Given the description of an element on the screen output the (x, y) to click on. 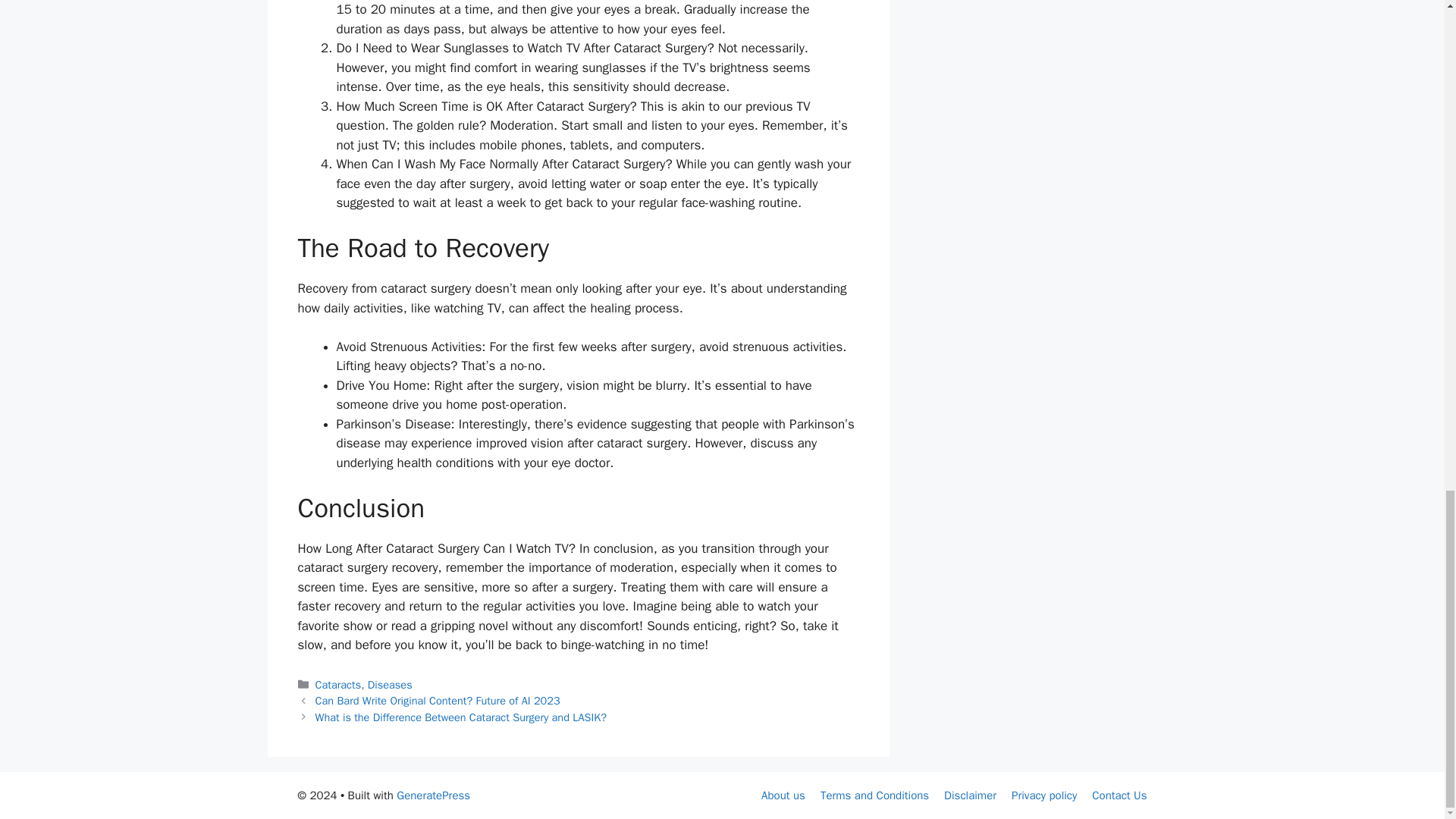
Terms and Conditions (874, 795)
Privacy policy (1044, 795)
Diseases (390, 684)
Contact Us (1119, 795)
GeneratePress (433, 795)
Can Bard Write Original Content? Future of AI 2023 (437, 700)
What is the Difference Between Cataract Surgery and LASIK? (461, 716)
Disclaimer (969, 795)
About us (783, 795)
Cataracts (338, 684)
